Given the description of an element on the screen output the (x, y) to click on. 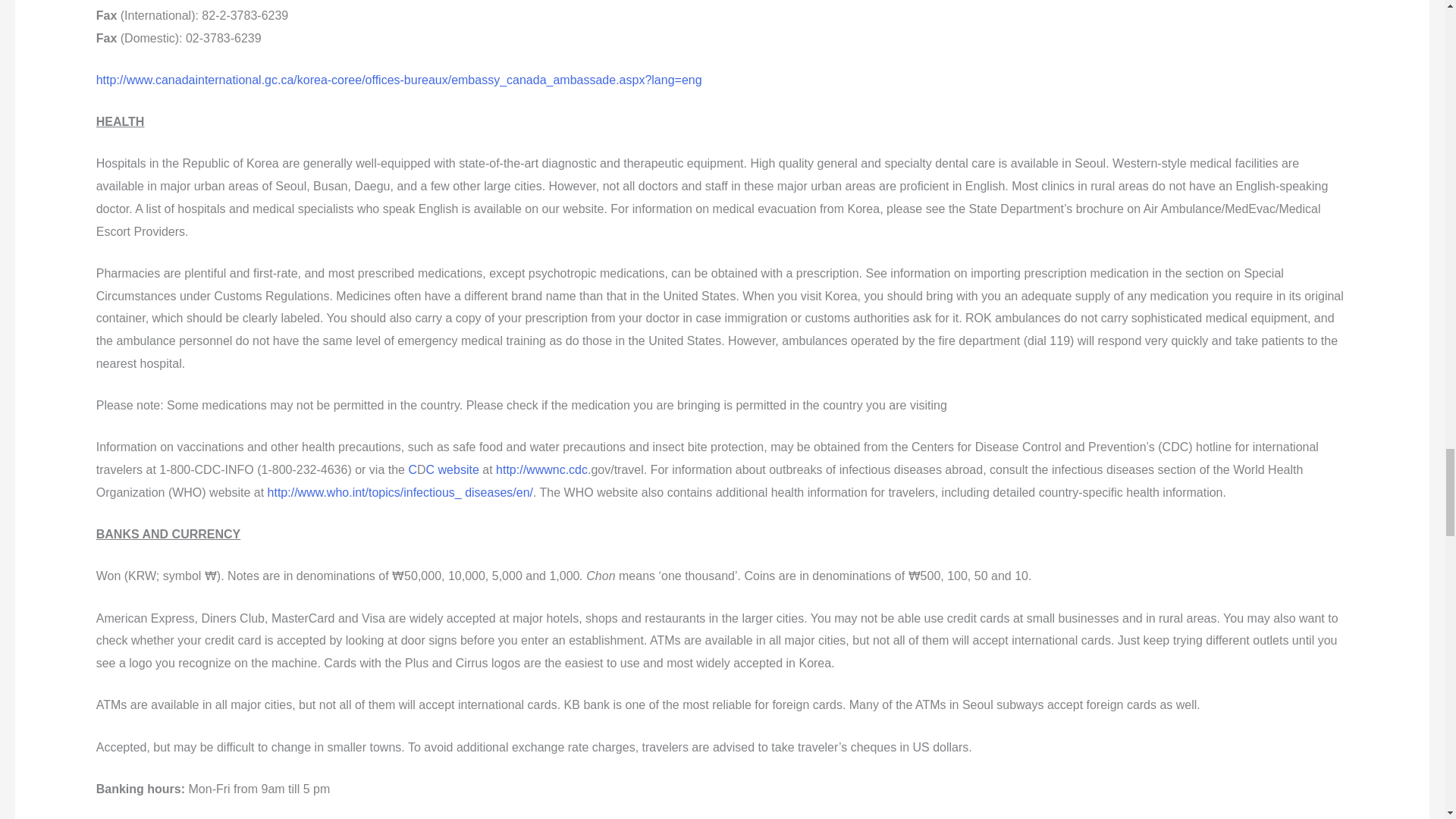
C website (452, 469)
